Given the description of an element on the screen output the (x, y) to click on. 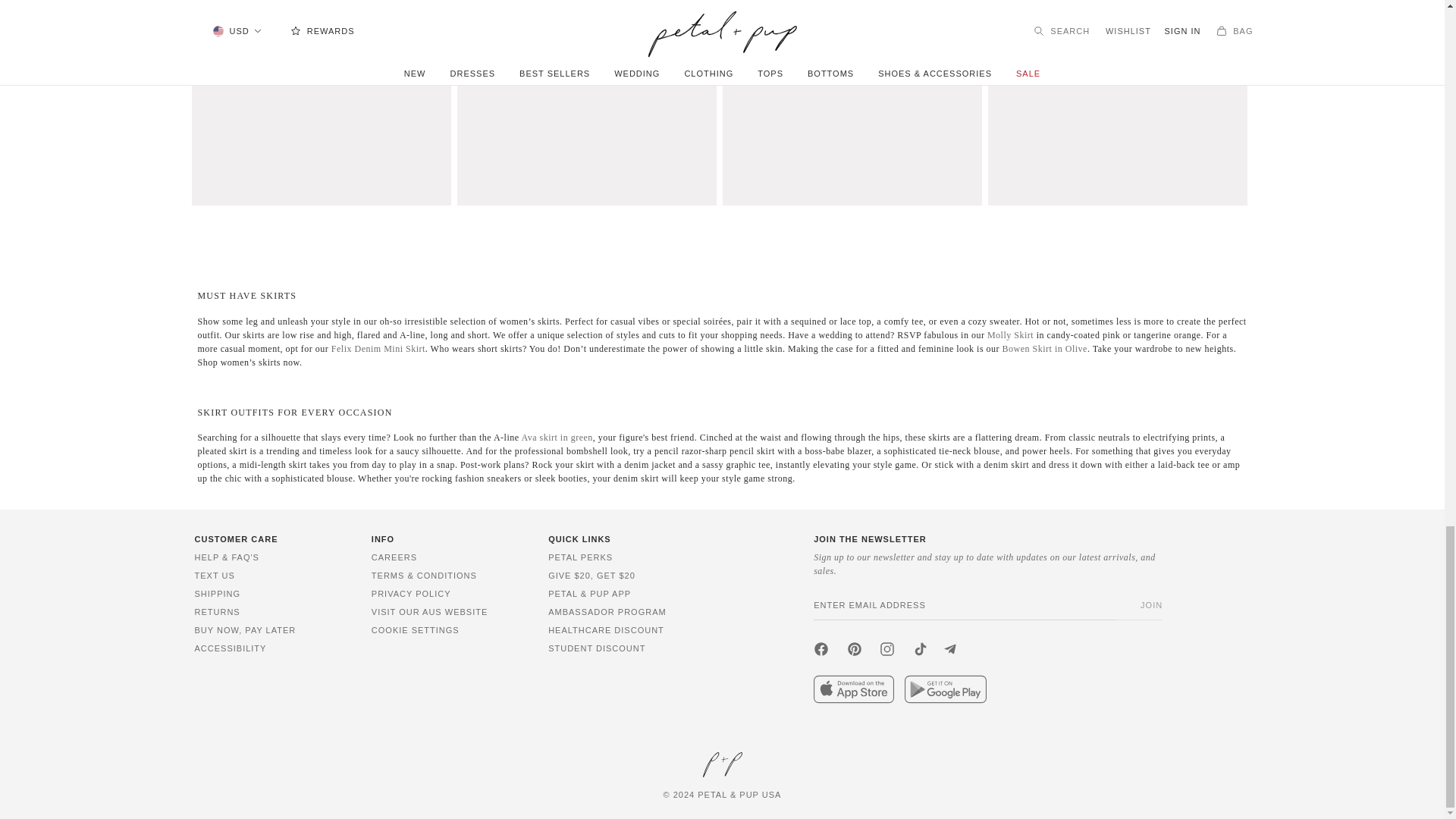
Download on the App Store (853, 688)
Get it on Google Play (945, 688)
